Given the description of an element on the screen output the (x, y) to click on. 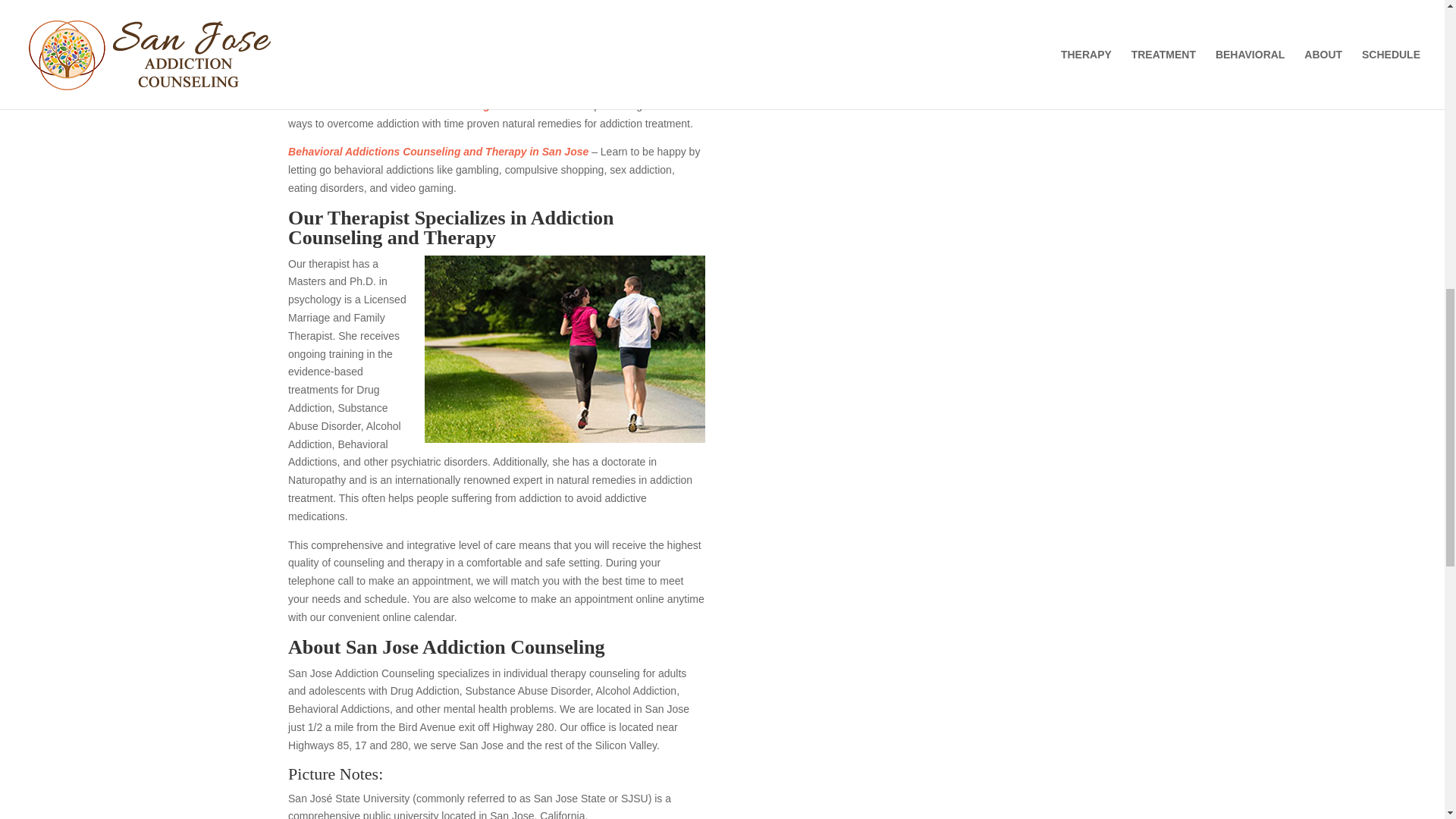
Behavioral Addictions Counseling and Therapy in San Jose (438, 151)
Natural Remedies Addiction Counseling in San Jose (419, 105)
Addiction Scholar (1174, 38)
Addiction Therapy and Counseling in San Jose (406, 39)
